Given the description of an element on the screen output the (x, y) to click on. 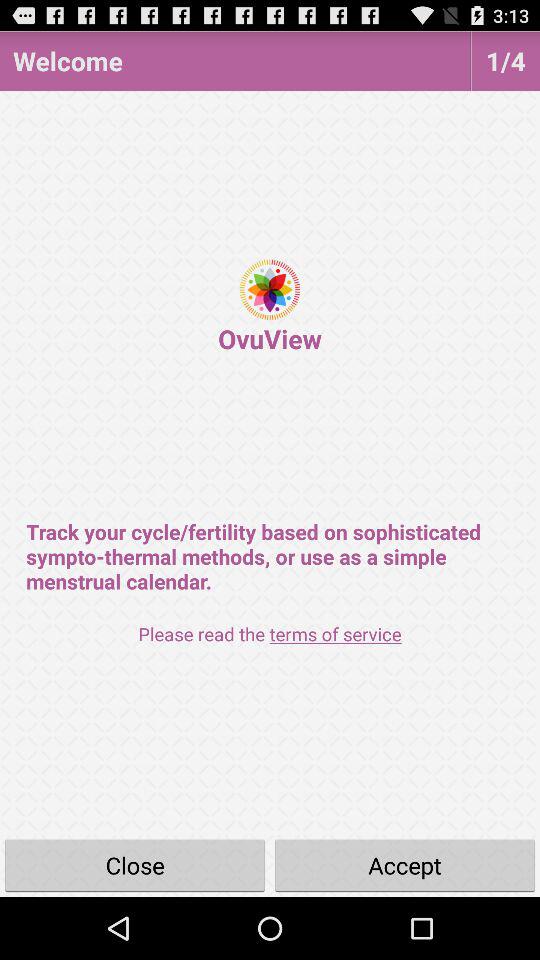
tap please read the app (269, 633)
